Given the description of an element on the screen output the (x, y) to click on. 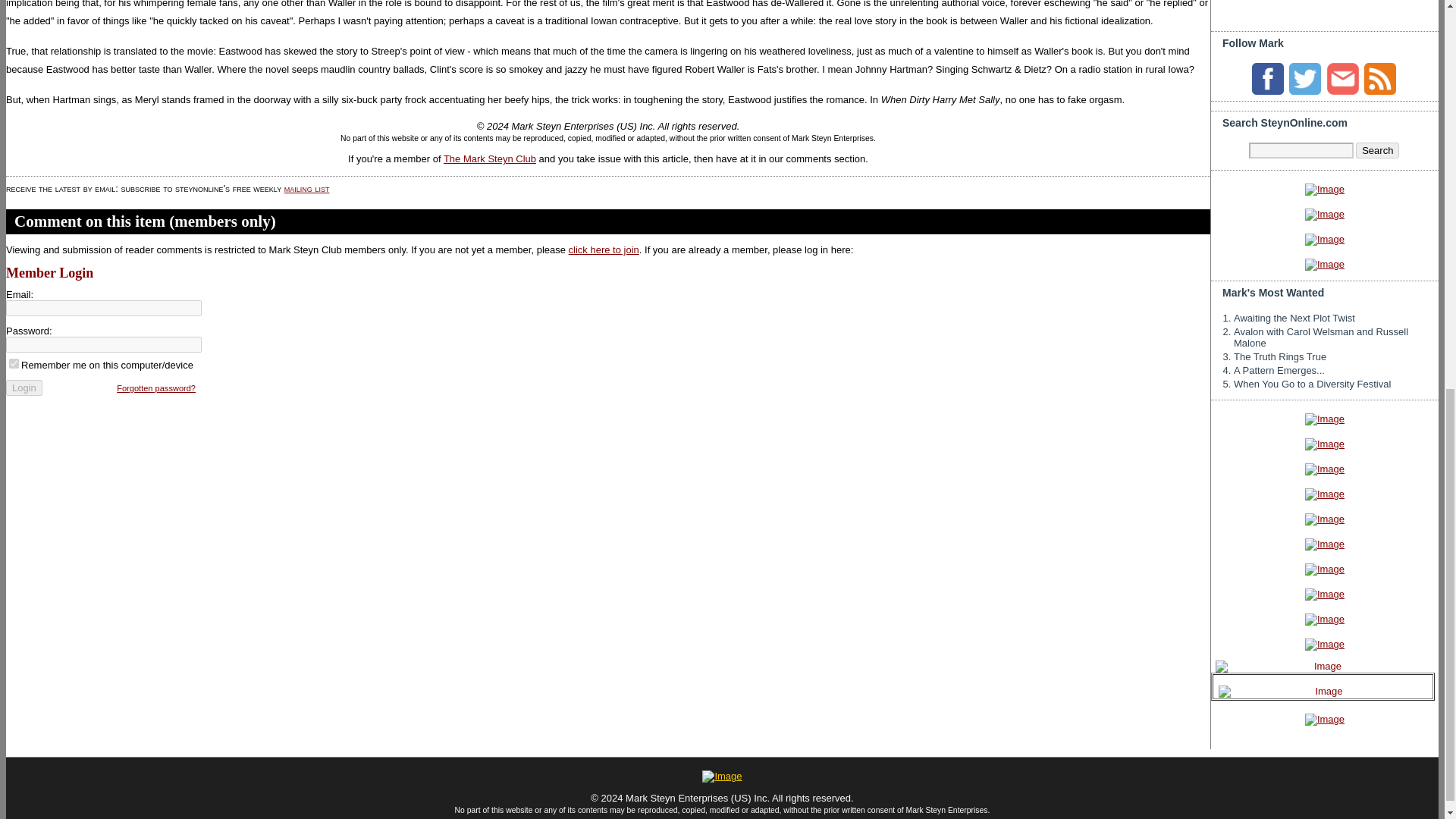
Facebook (1268, 79)
Join Mailing List (1342, 79)
RSS Feed (1380, 79)
Twitter (1304, 79)
Search (1377, 150)
persist (13, 363)
Login (23, 387)
